Given the description of an element on the screen output the (x, y) to click on. 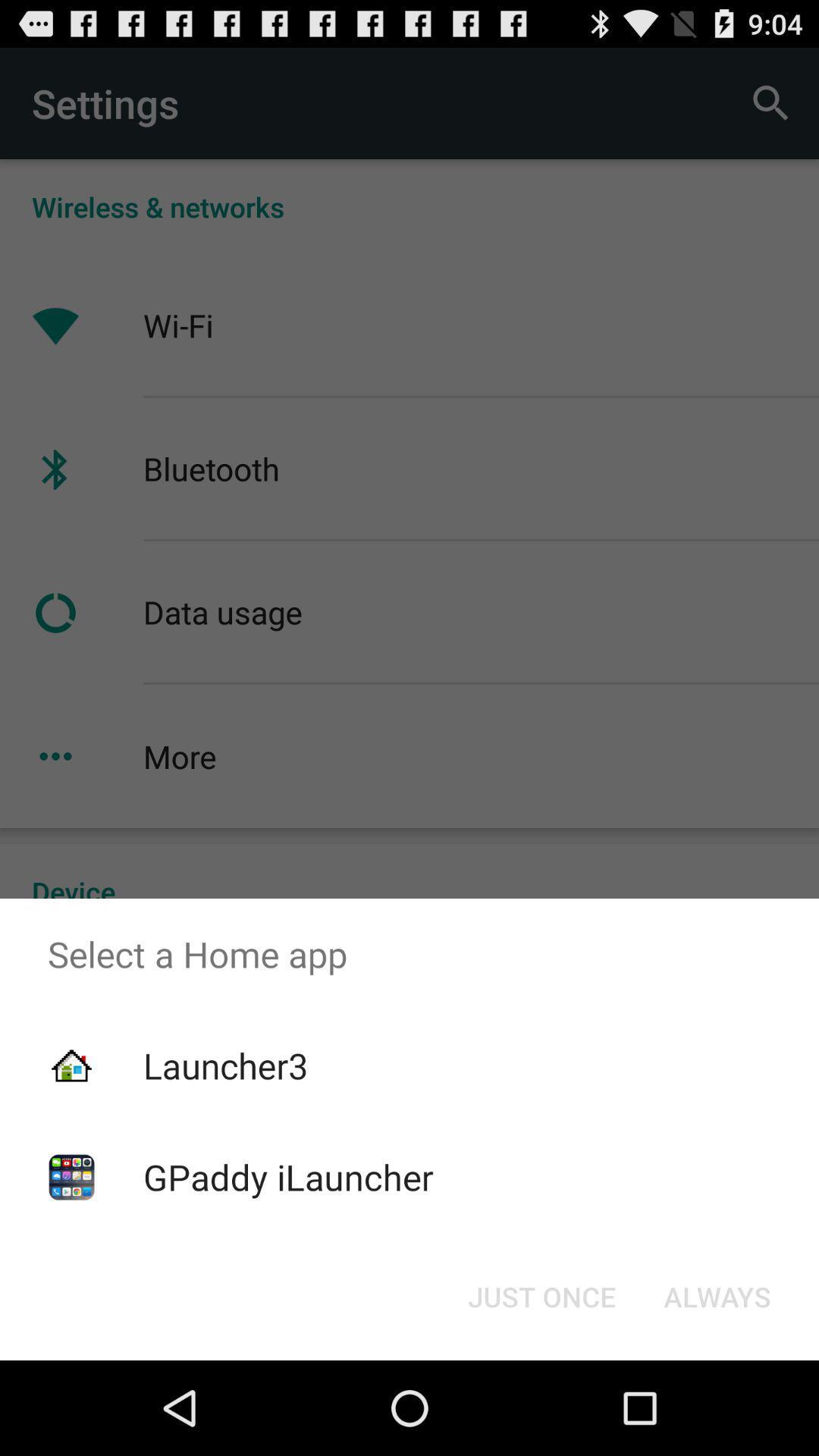
click item below the launcher3 icon (288, 1176)
